Given the description of an element on the screen output the (x, y) to click on. 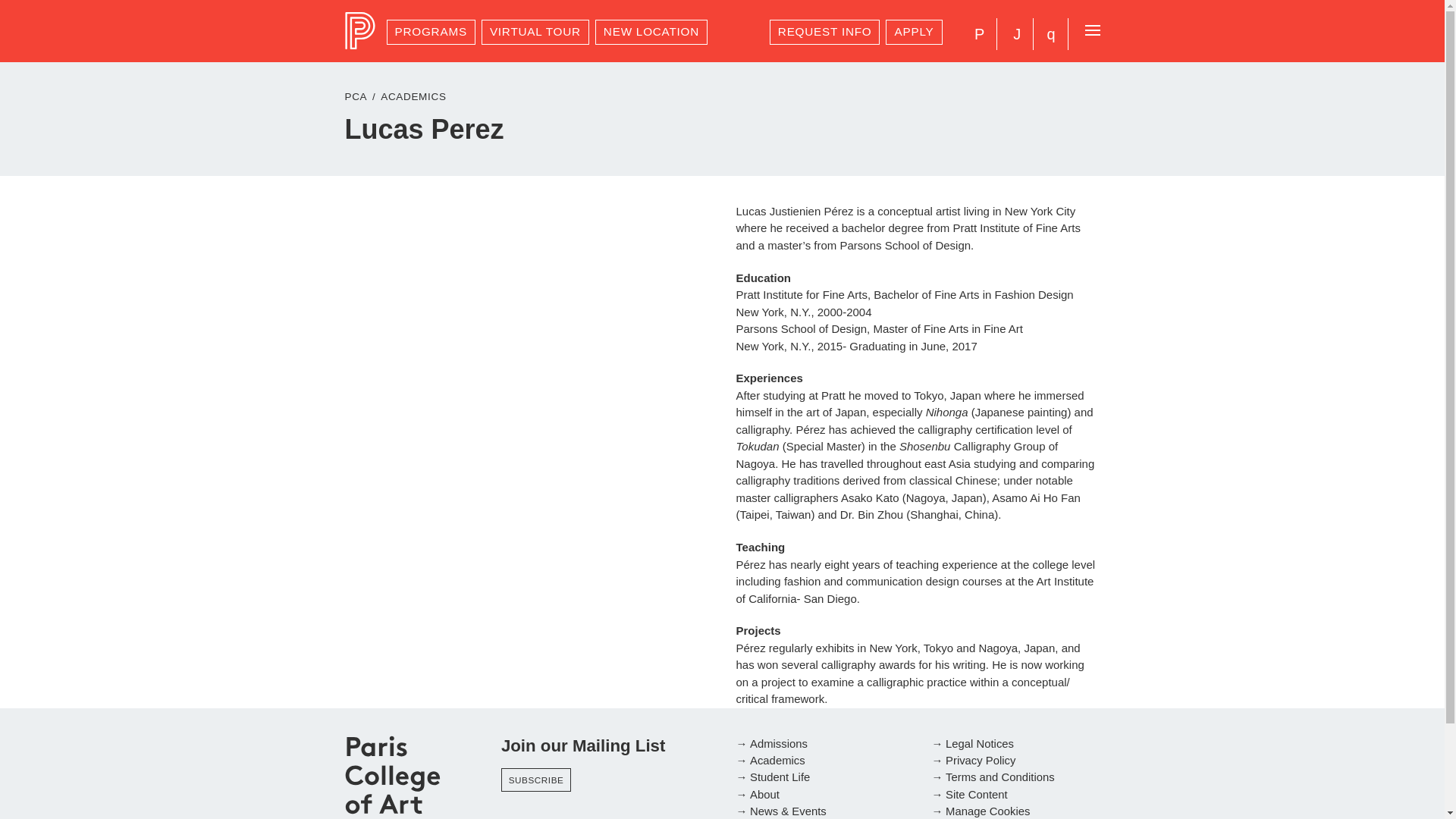
Search (1050, 33)
PCA (362, 30)
q (1050, 33)
PROGRAMS (431, 32)
REQUEST INFO (825, 32)
J (1016, 33)
VIRTUAL TOUR (535, 32)
Connect to the portal (978, 33)
Go to PCA. (354, 96)
P (978, 33)
Go to Academics. (412, 96)
APPLY (913, 32)
Events (1016, 33)
NEW LOCATION (651, 32)
